Given the description of an element on the screen output the (x, y) to click on. 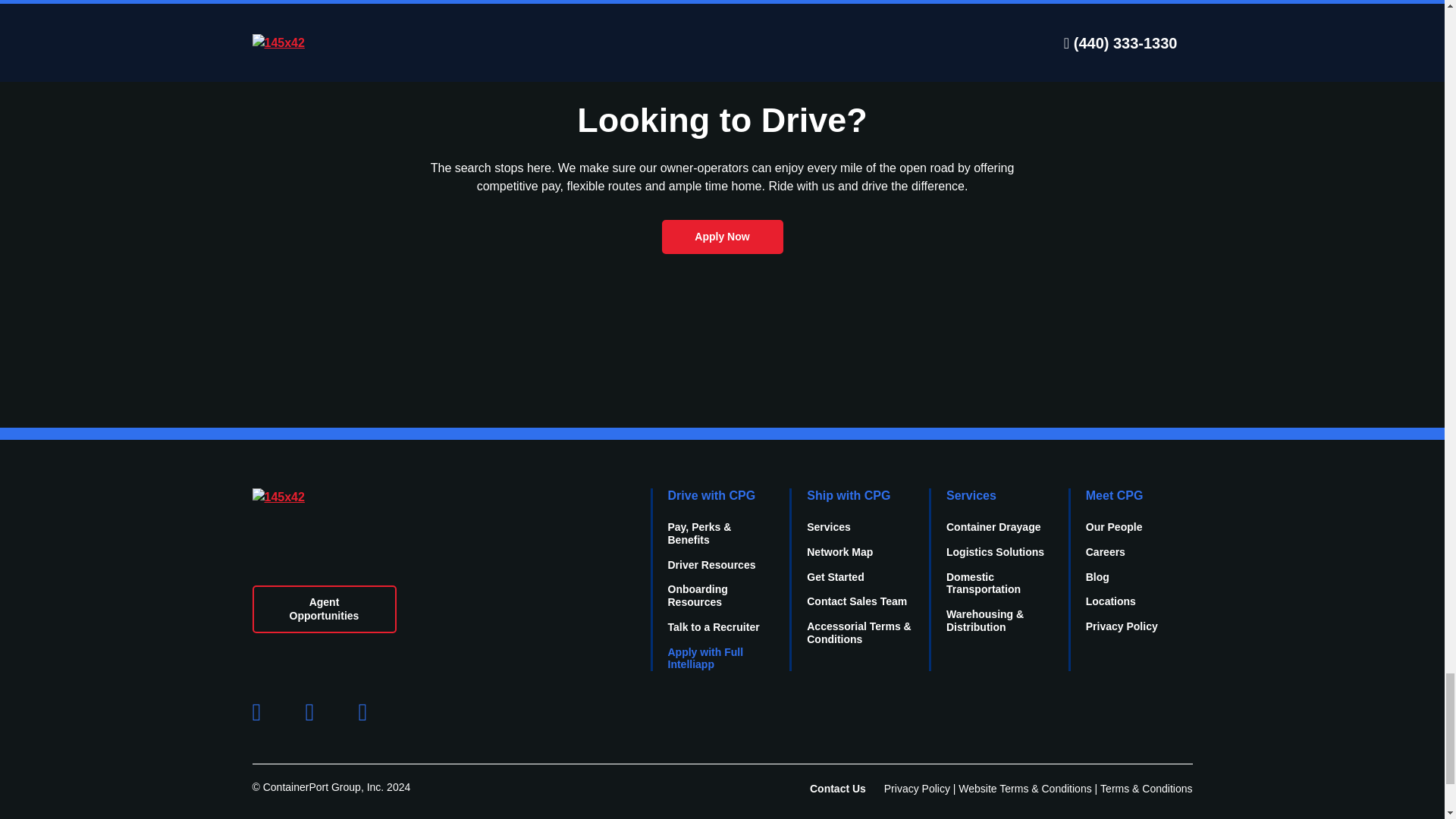
Meet CPG (1114, 495)
Talk to a Recruiter (712, 626)
Privacy Policy (1121, 625)
Services (970, 495)
Our People (1114, 526)
Ship with CPG (847, 495)
Get Started (834, 576)
Domestic Transportation (983, 582)
Onboarding Resources (696, 595)
Container Drayage (993, 526)
